Given the description of an element on the screen output the (x, y) to click on. 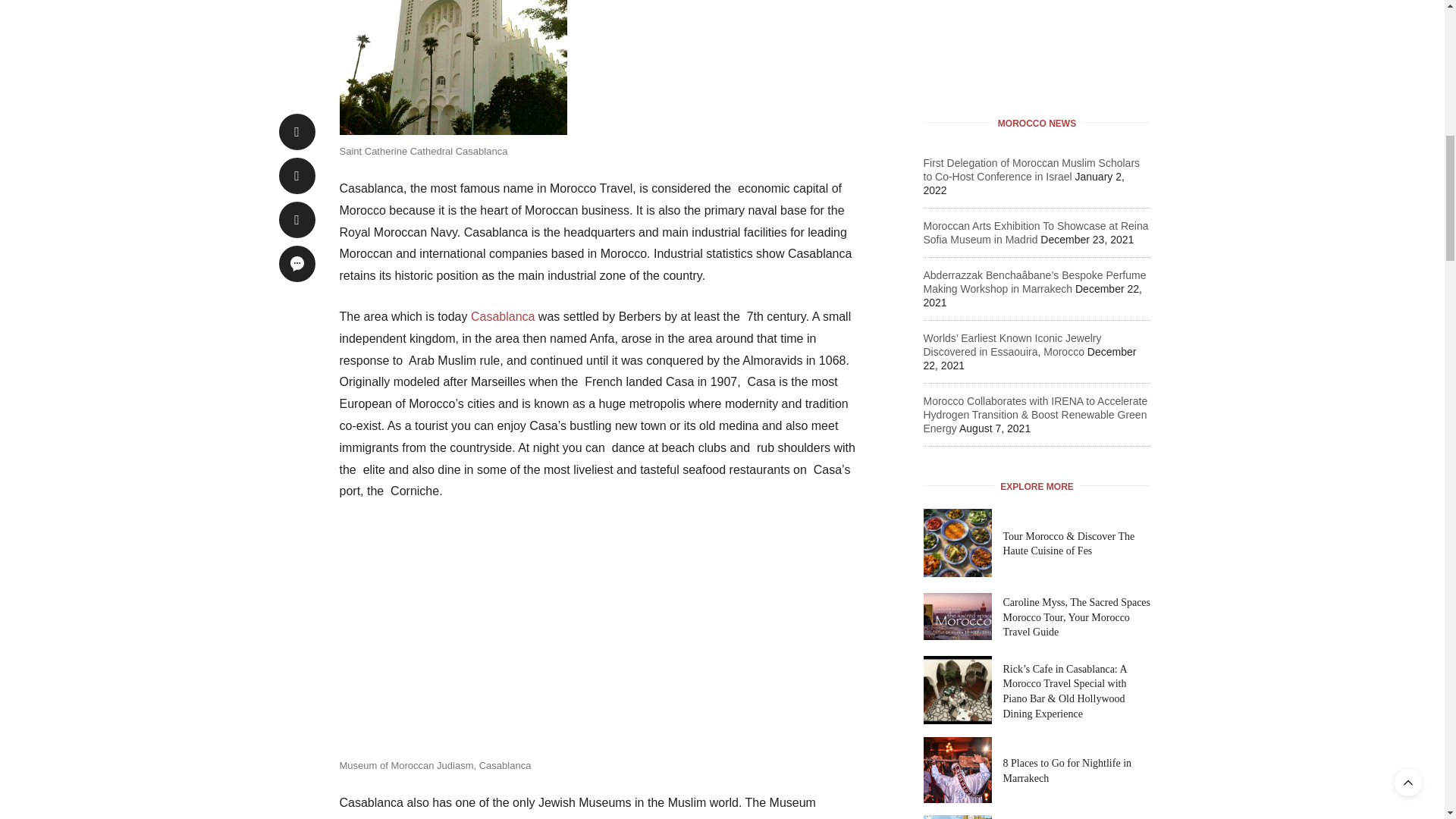
Museum-of-Moroccan Judiasm- Casablanca (453, 635)
Saint-Catherine- Cathedral -Casablanca (453, 67)
Casablanca (502, 316)
